Given the description of an element on the screen output the (x, y) to click on. 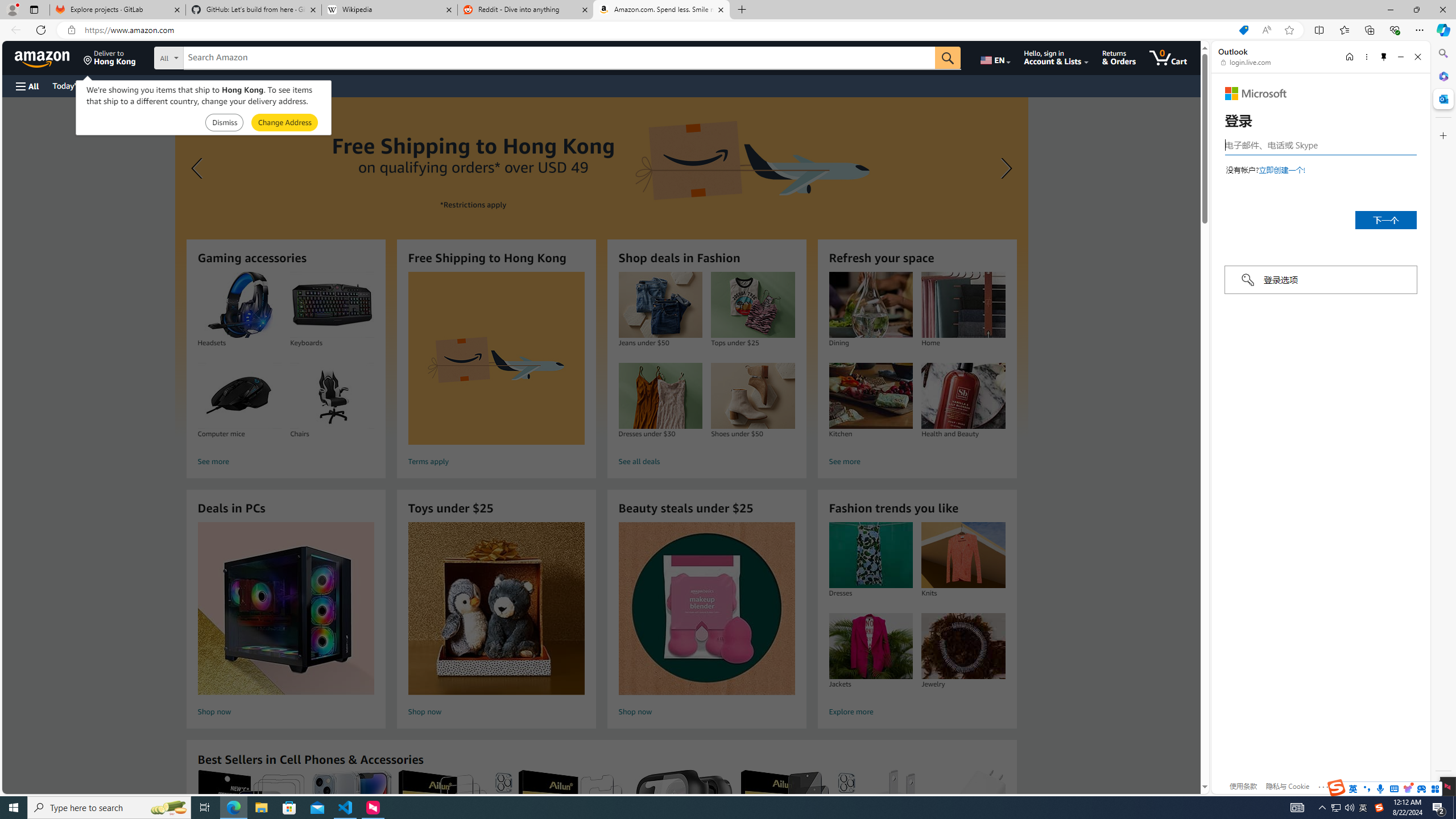
Open Menu (26, 86)
Chairs (331, 395)
See all deals (706, 461)
Dresses (870, 555)
Amazon (43, 57)
Kitchen (870, 395)
0 items in cart (1168, 57)
Choose a language for shopping. (995, 57)
